Given the description of an element on the screen output the (x, y) to click on. 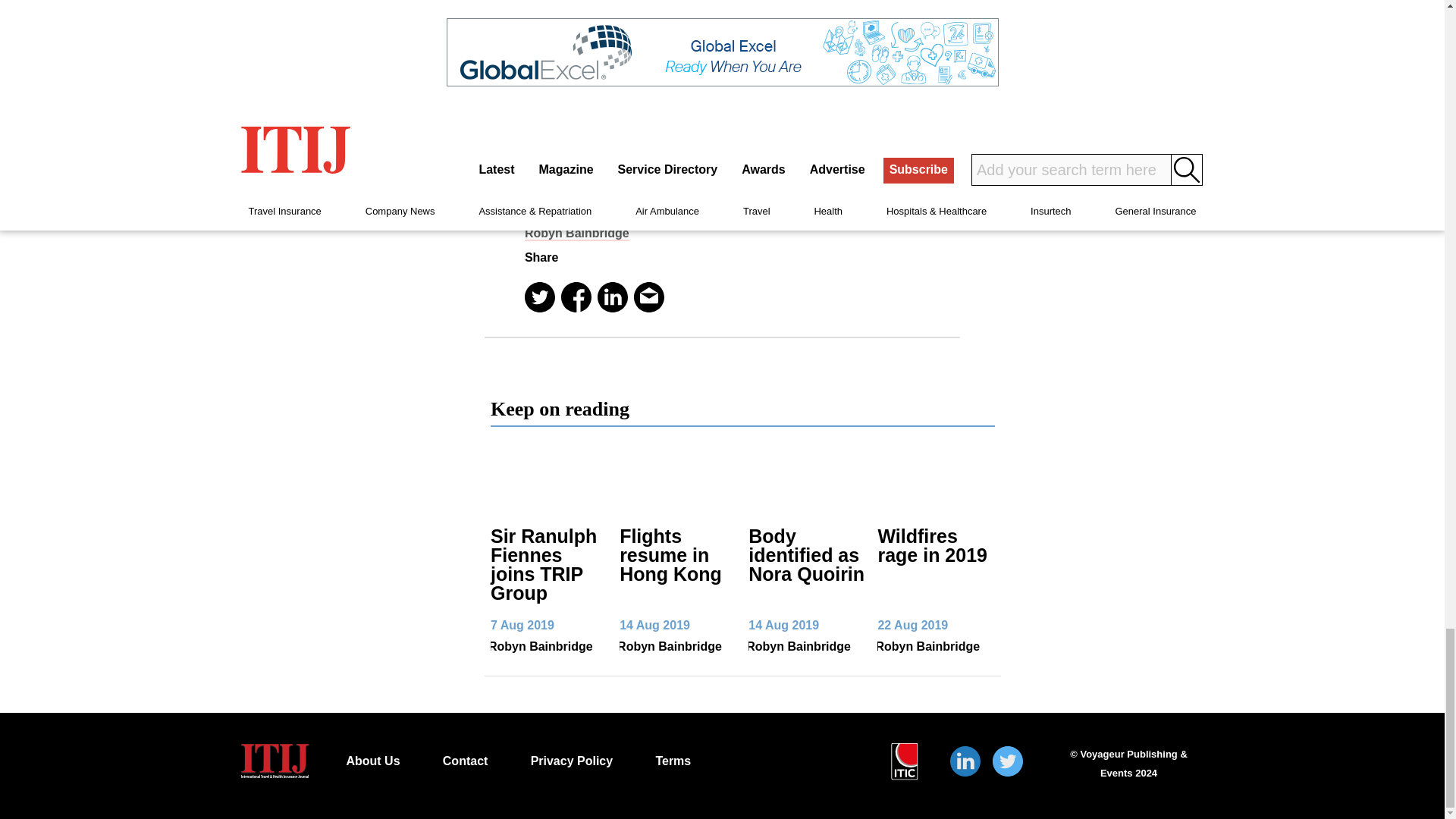
View information about this author (576, 233)
Join us on LinkedIn (964, 761)
Find us on Twitter (1007, 761)
Share on Facebook (575, 296)
Share on Twitter (539, 296)
Send by email (648, 296)
Share on LinkedIn (611, 296)
